Given the description of an element on the screen output the (x, y) to click on. 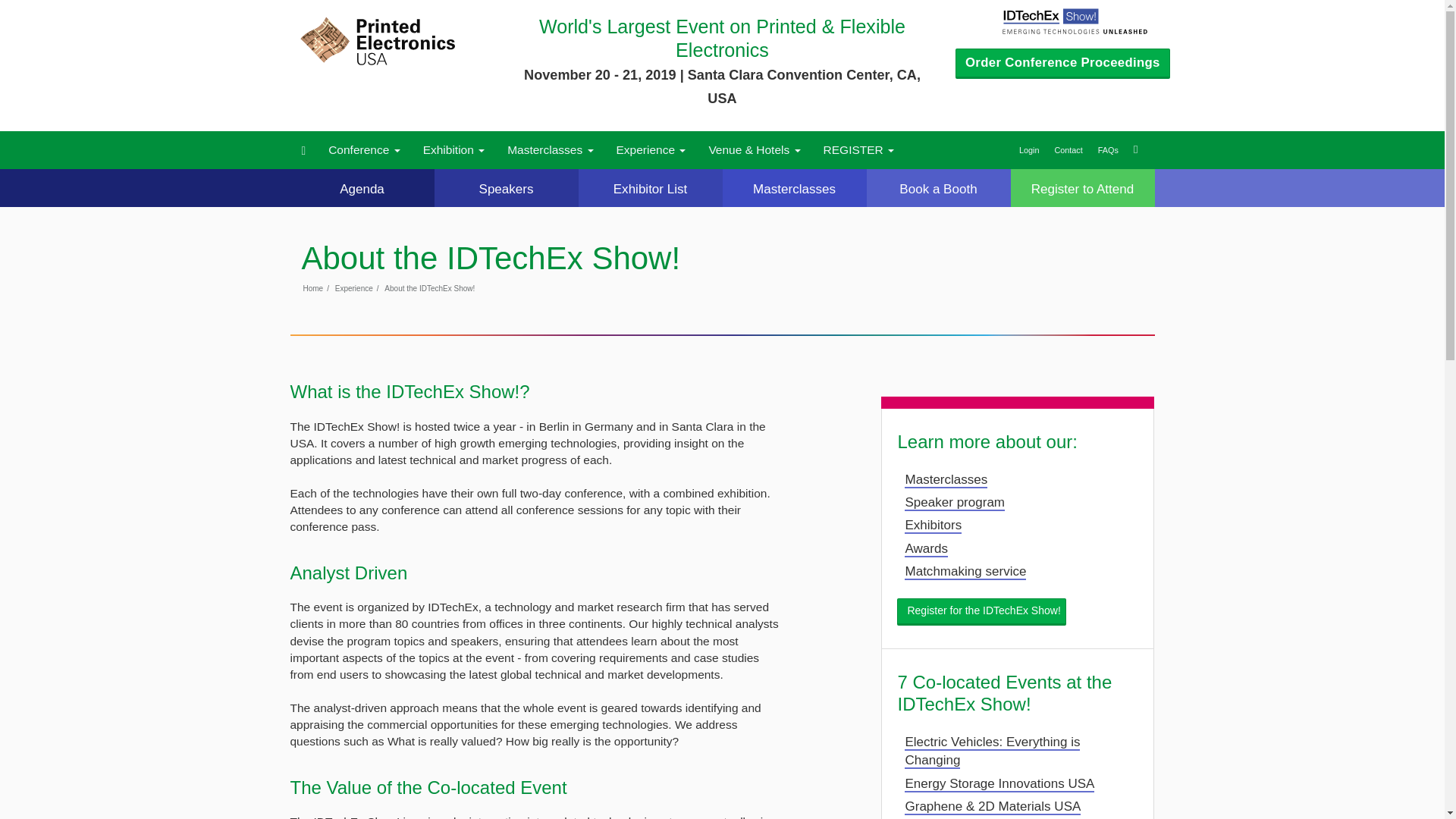
Order Conference Proceedings (1062, 63)
Masterclasses (550, 149)
Experience (651, 149)
Exhibition (454, 149)
Conference (363, 149)
